Given the description of an element on the screen output the (x, y) to click on. 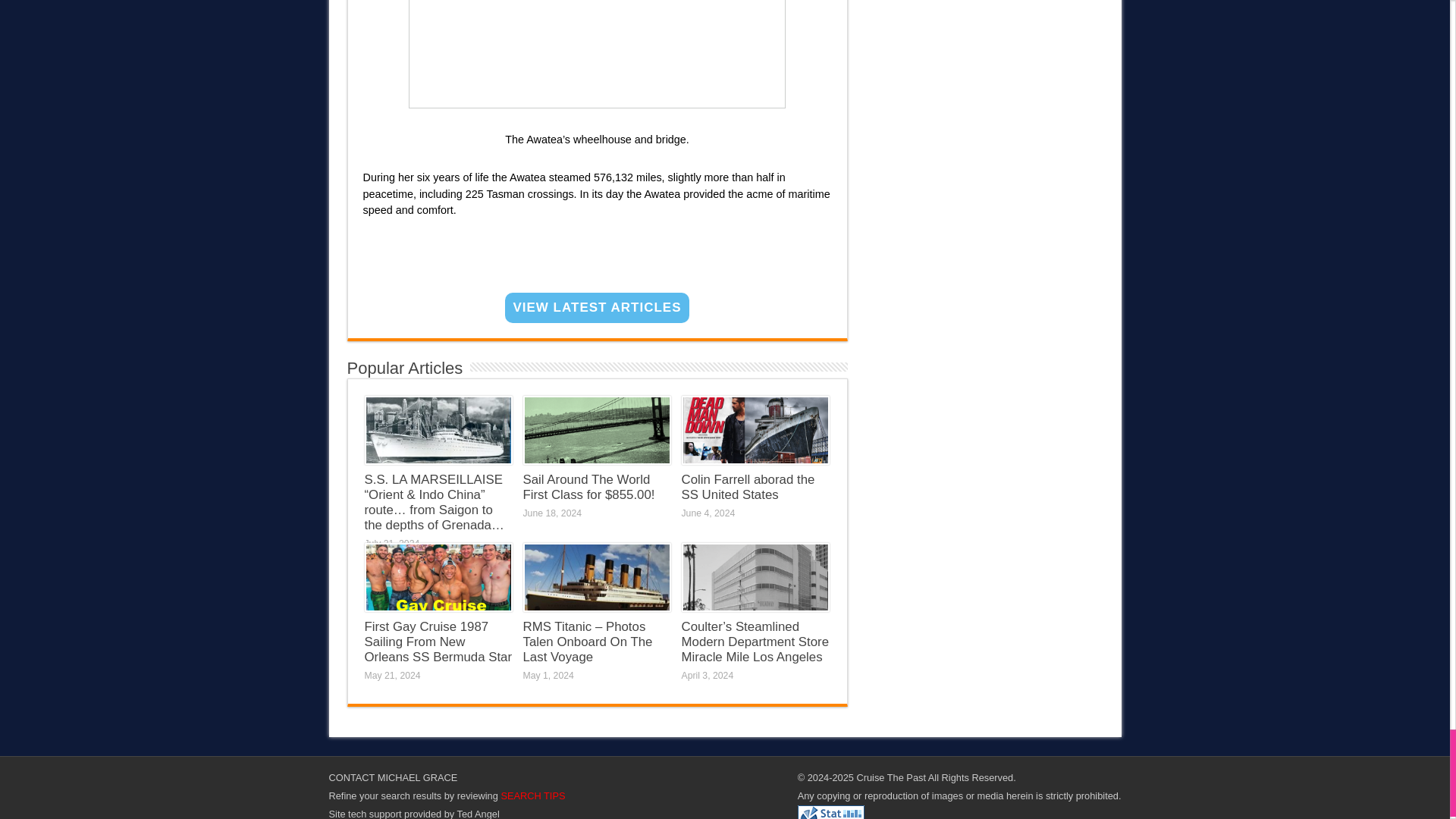
VIEW LATEST ARTICLES (596, 307)
Colin Farrell aborad the SS United States (747, 487)
Popular Articles (405, 367)
